Given the description of an element on the screen output the (x, y) to click on. 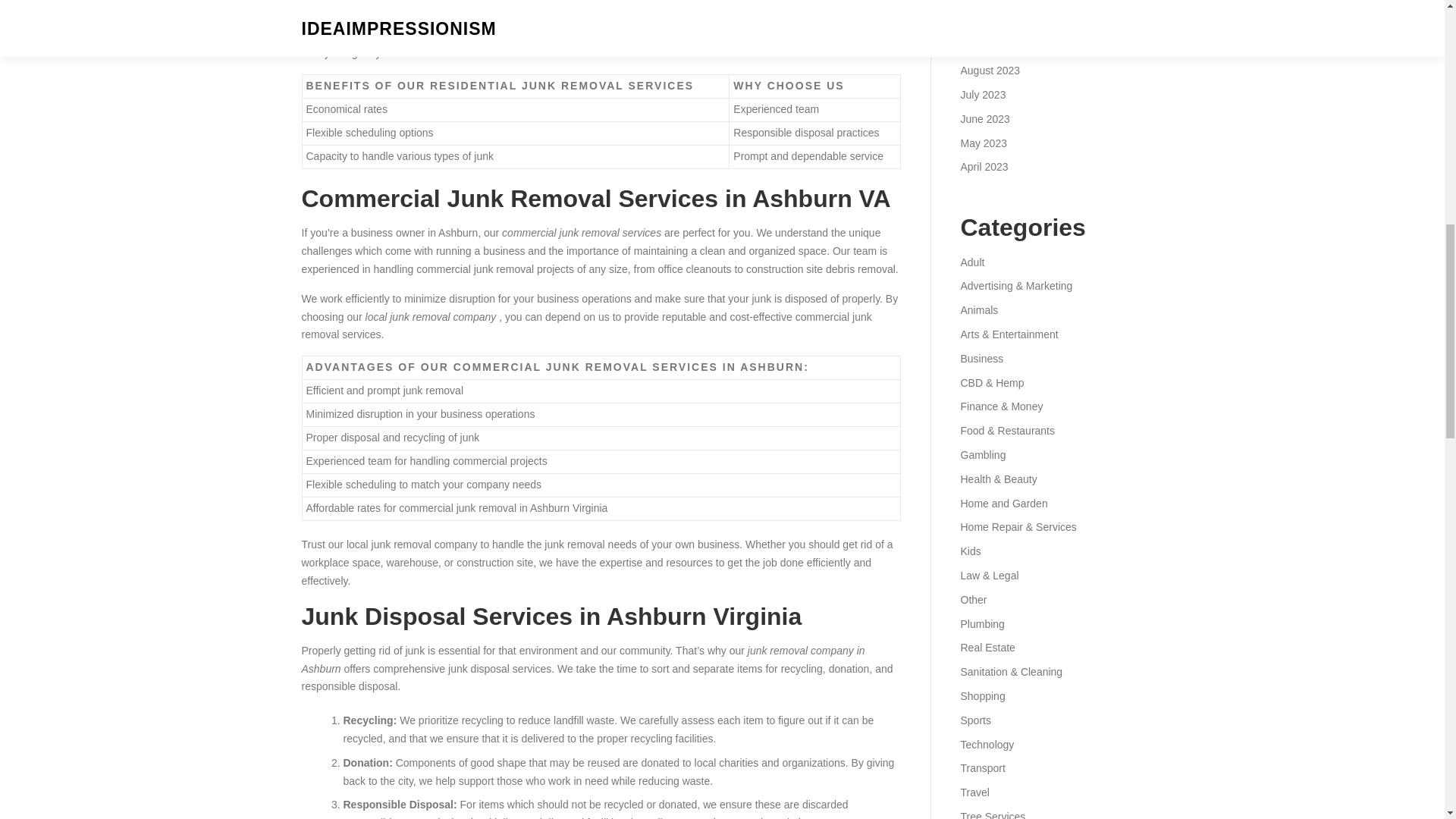
Business (981, 358)
Animals (978, 309)
Adult (971, 262)
April 2023 (983, 166)
September 2023 (999, 46)
July 2023 (982, 94)
June 2023 (984, 119)
August 2023 (989, 70)
May 2023 (982, 143)
Gambling (982, 454)
November 2023 (997, 2)
October 2023 (992, 22)
